Given the description of an element on the screen output the (x, y) to click on. 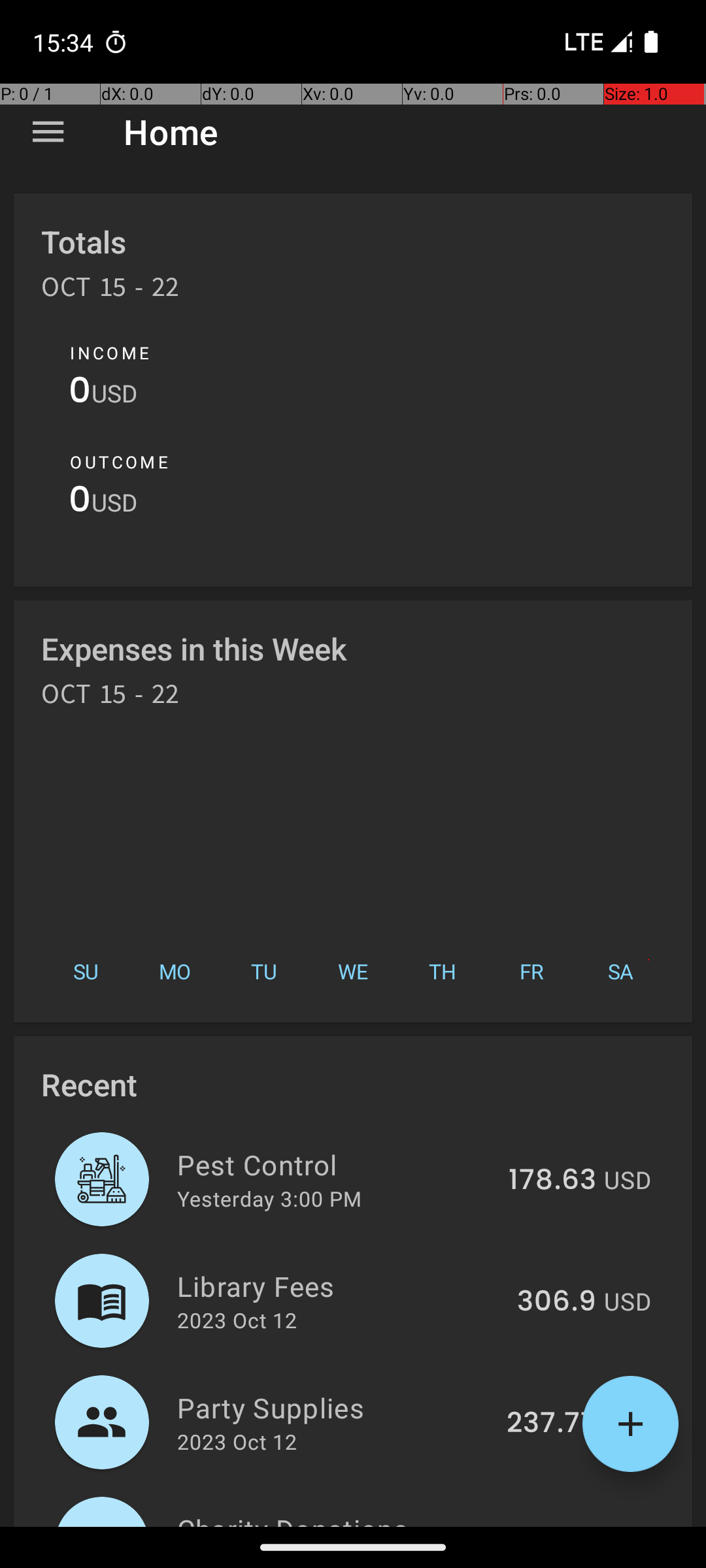
Pest Control Element type: android.widget.TextView (335, 1164)
Yesterday 3:00 PM Element type: android.widget.TextView (269, 1198)
178.63 Element type: android.widget.TextView (551, 1180)
Library Fees Element type: android.widget.TextView (339, 1285)
306.9 Element type: android.widget.TextView (556, 1301)
237.77 Element type: android.widget.TextView (550, 1423)
Charity Donations Element type: android.widget.TextView (334, 1518)
136.39 Element type: android.widget.TextView (551, 1524)
